Given the description of an element on the screen output the (x, y) to click on. 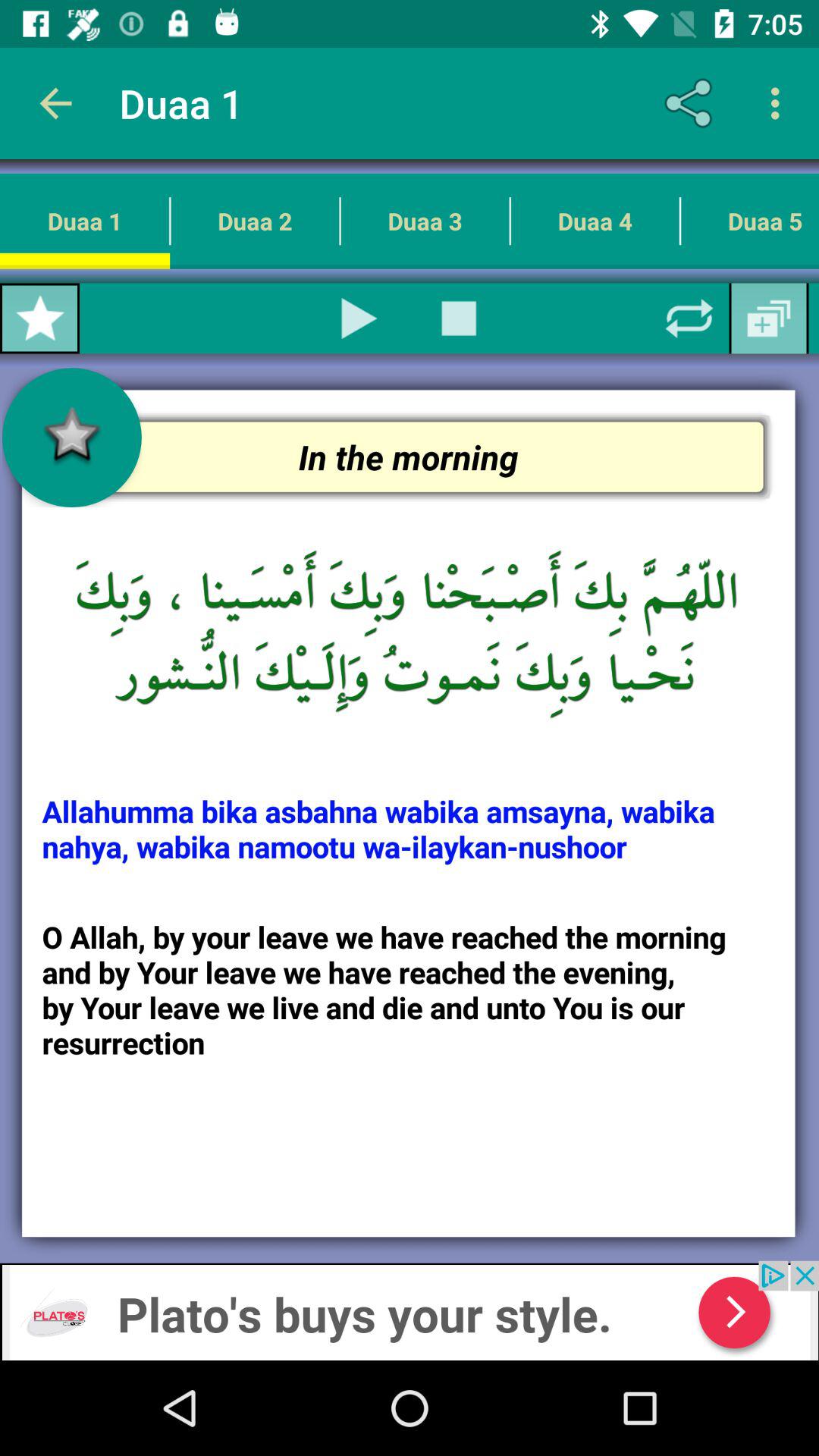
flip to duaa 4 item (595, 221)
